Given the description of an element on the screen output the (x, y) to click on. 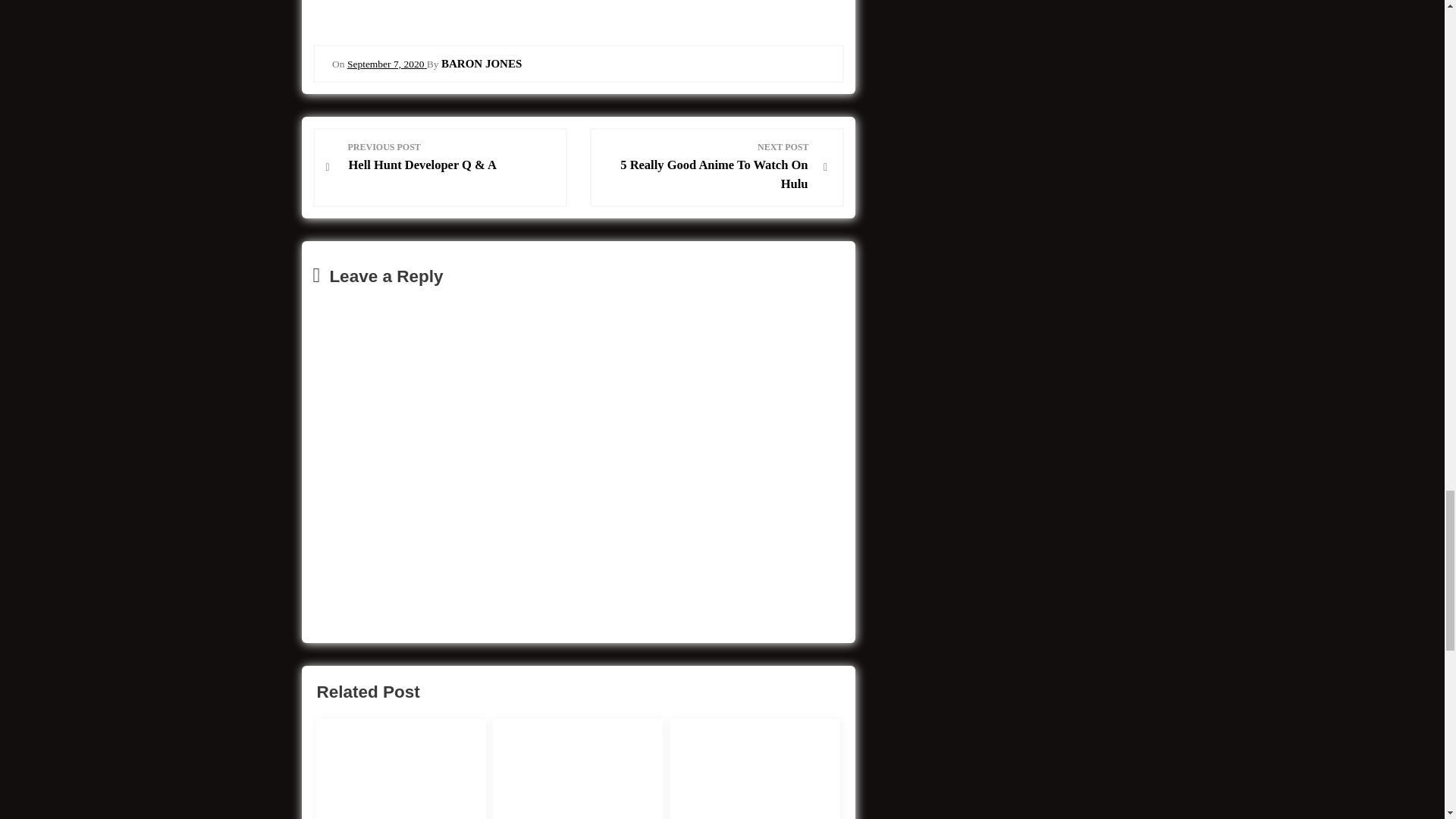
BARON JONES (481, 63)
September 7, 2020 (705, 167)
